Given the description of an element on the screen output the (x, y) to click on. 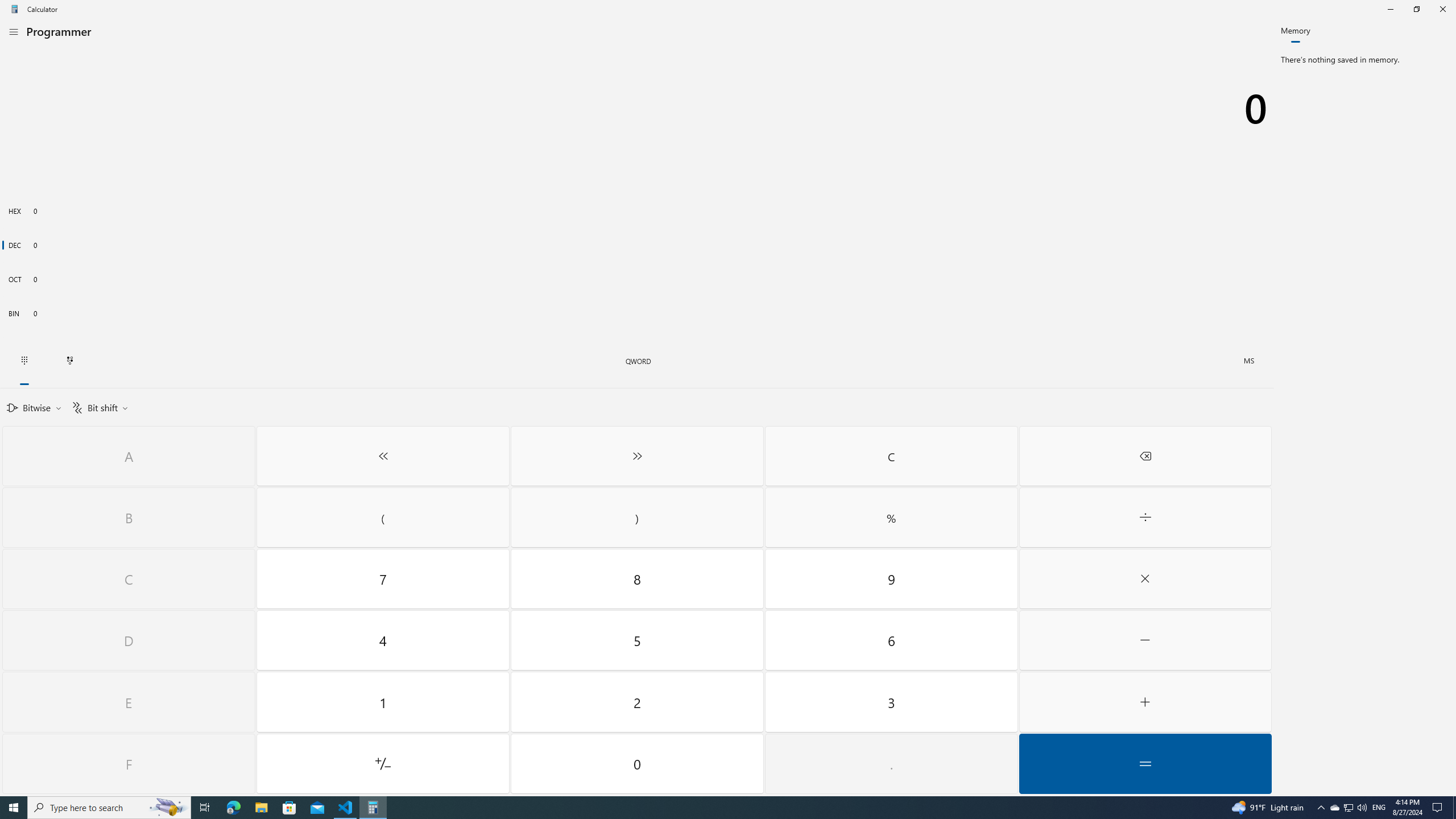
Backspace (1145, 455)
One (382, 701)
Bitwise (33, 407)
Bitwise (33, 407)
User Promoted Notification Area (1347, 807)
Multiply by (1145, 578)
E (128, 701)
